Given the description of an element on the screen output the (x, y) to click on. 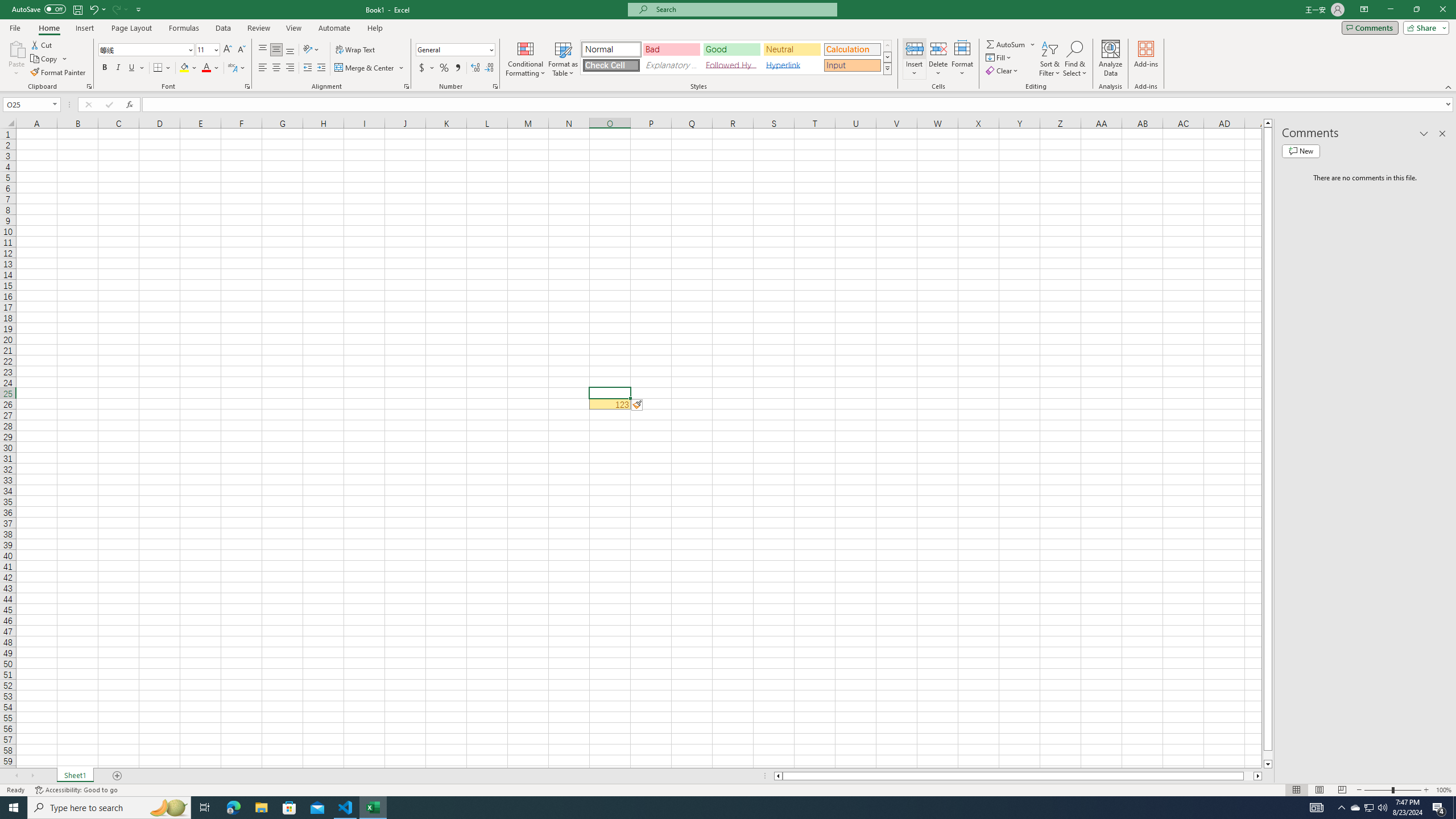
Percent Style (443, 67)
Decrease Font Size (240, 49)
Normal (1296, 790)
Task Pane Options (1423, 133)
Row up (887, 45)
Action: On Object Control (636, 404)
Font Color (210, 67)
Format as Table (563, 58)
Align Left (262, 67)
Top Align (262, 49)
Comments (1369, 27)
Font (147, 49)
Format (962, 58)
